Given the description of an element on the screen output the (x, y) to click on. 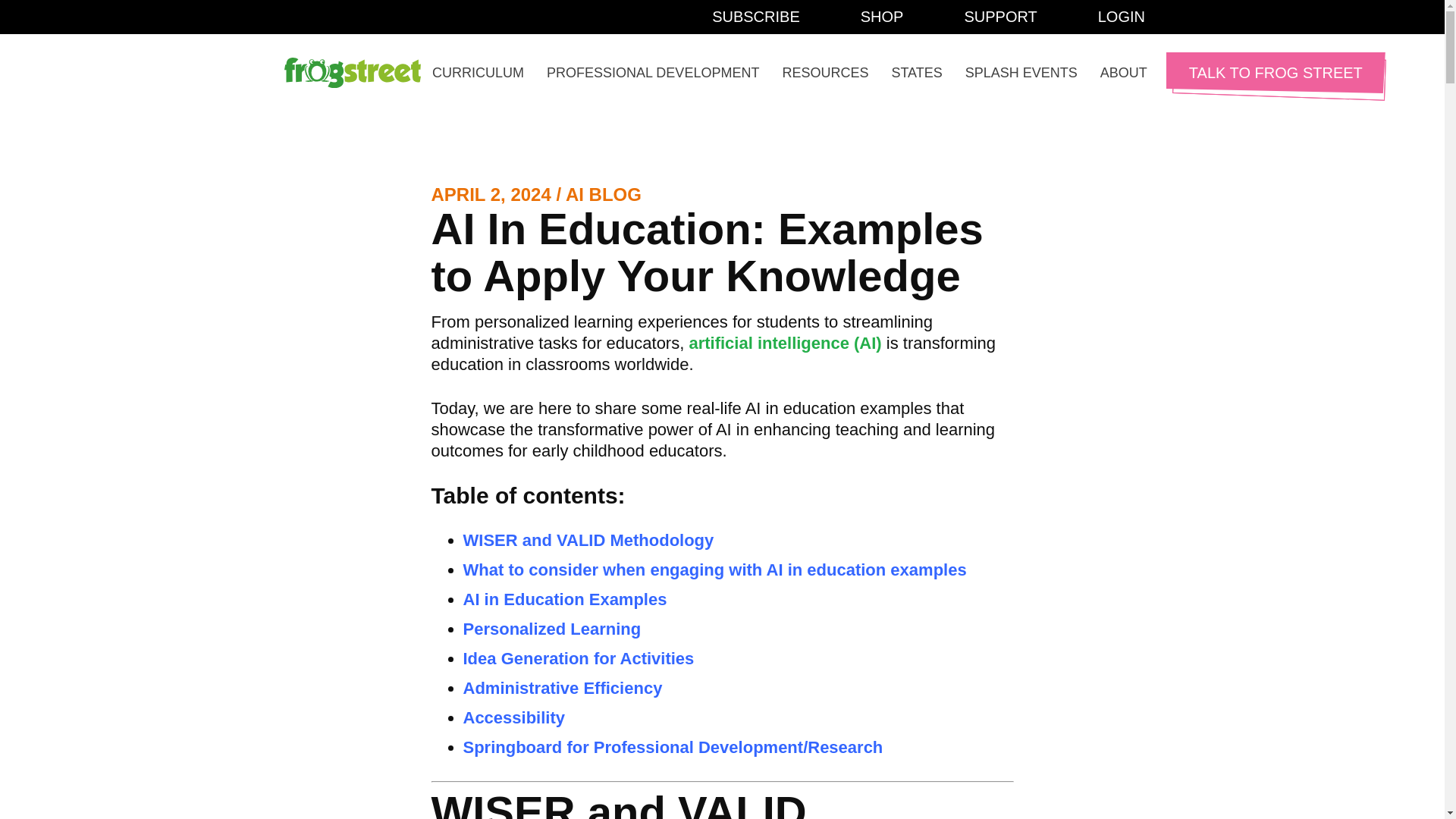
STATES (916, 72)
RESOURCES (824, 72)
LOGIN (1121, 16)
TALK TO FROG STREET (1276, 72)
CURRICULUM (477, 72)
SPLASH EVENTS (1021, 72)
ABOUT (1123, 72)
SUPPORT (1000, 16)
SUBSCRIBE (756, 16)
SHOP (881, 16)
